Given the description of an element on the screen output the (x, y) to click on. 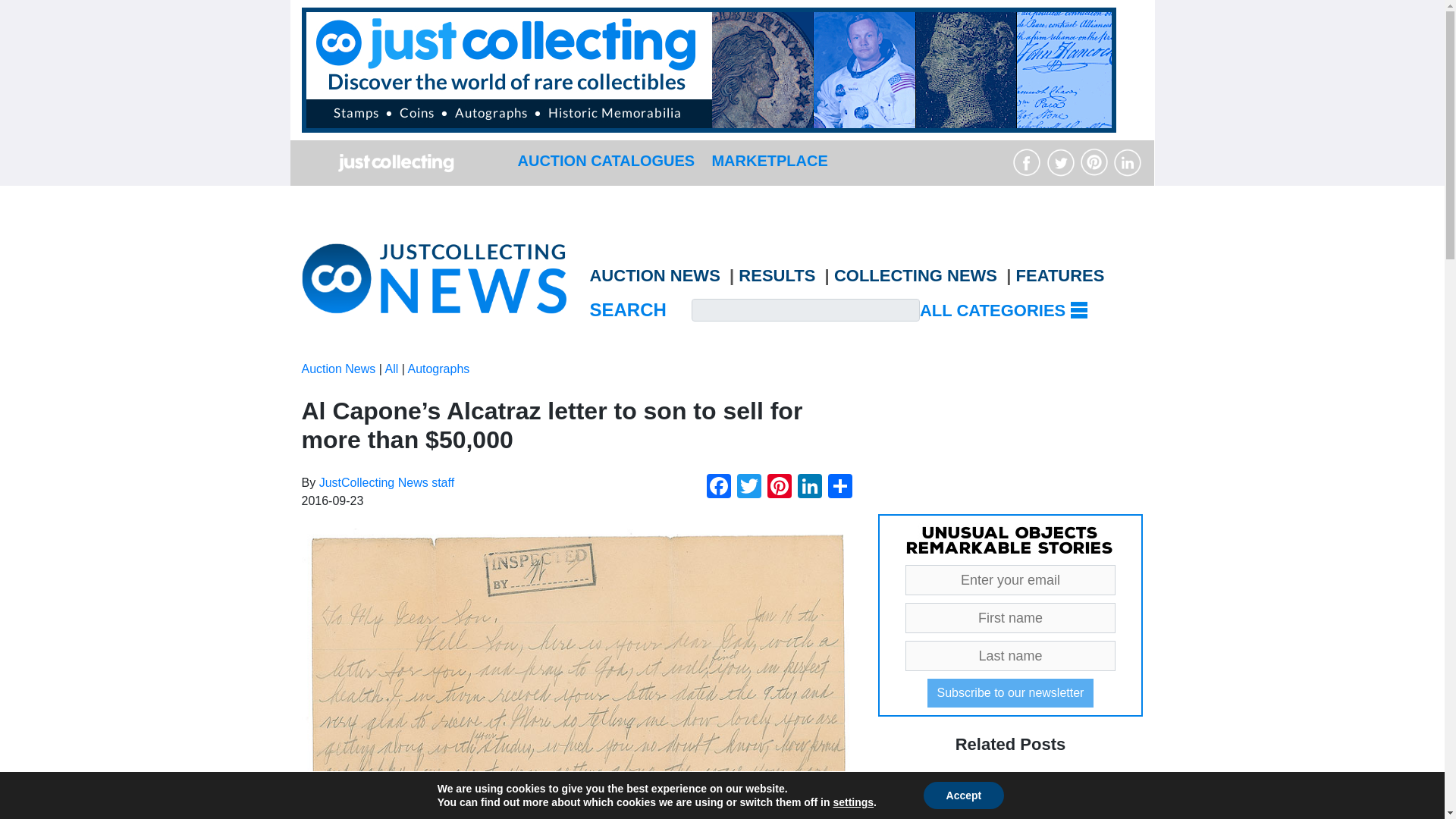
LinkedIn (809, 488)
Posts by JustCollecting News staff (386, 481)
Pinterest (779, 488)
AUCTION CATALOGUES (605, 160)
Twitter (748, 488)
Facebook (718, 488)
Subscribe to our newsletter (1010, 692)
Search for... (805, 309)
